Given the description of an element on the screen output the (x, y) to click on. 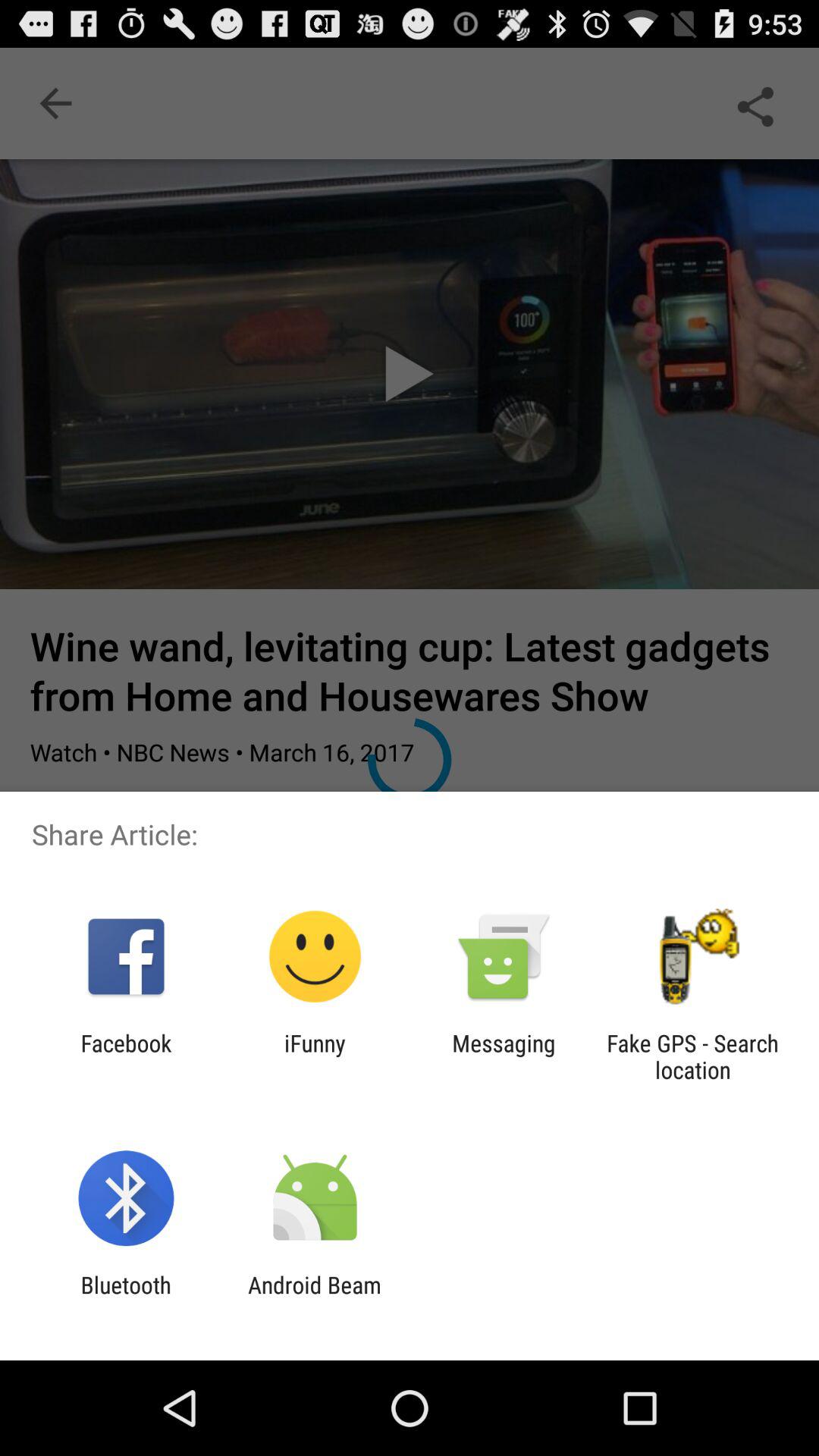
select the app to the left of messaging (314, 1056)
